Given the description of an element on the screen output the (x, y) to click on. 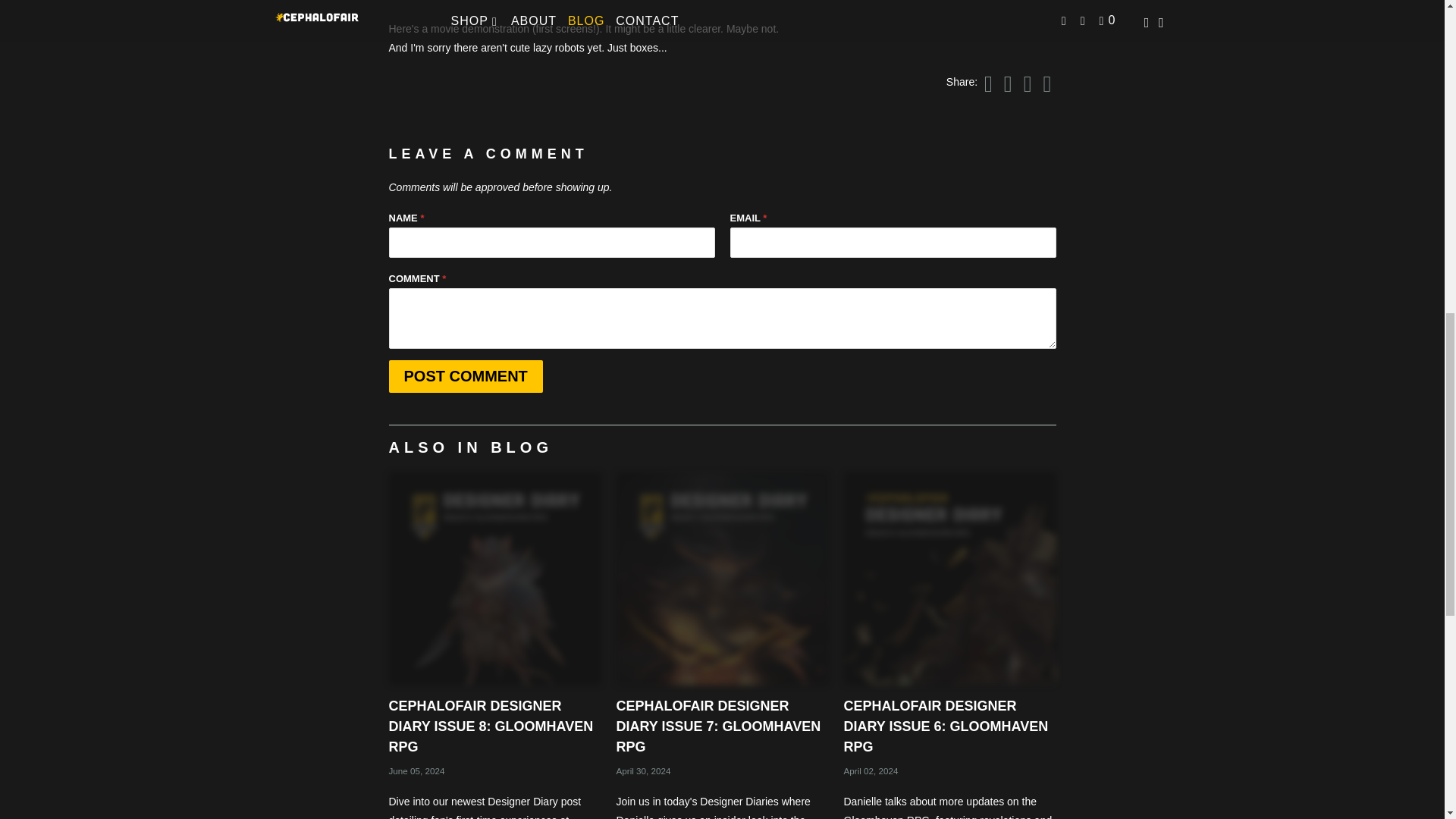
Post comment (464, 376)
CEPHALOFAIR DESIGNER DIARY ISSUE 8: GLOOMHAVEN RPG (490, 726)
CEPHALOFAIR DESIGNER DIARY ISSUE 8: GLOOMHAVEN RPG (493, 578)
CEPHALOFAIR DESIGNER DIARY ISSUE 6: GLOOMHAVEN RPG (945, 726)
CEPHALOFAIR DESIGNER DIARY ISSUE 6: GLOOMHAVEN RPG (949, 578)
CEPHALOFAIR DESIGNER DIARY ISSUE 7: GLOOMHAVEN RPG (721, 578)
CEPHALOFAIR DESIGNER DIARY ISSUE 7: GLOOMHAVEN RPG (718, 726)
